Given the description of an element on the screen output the (x, y) to click on. 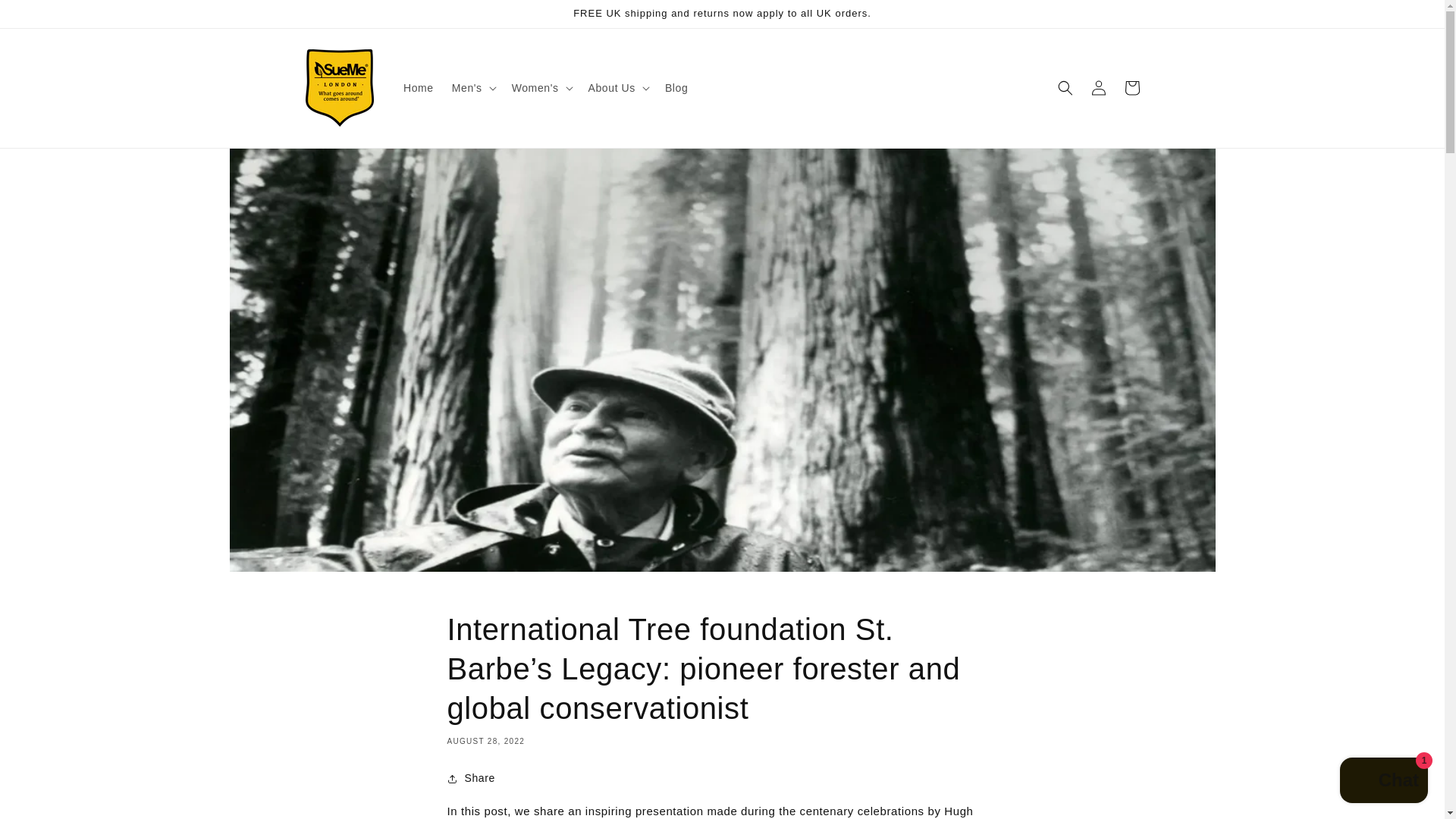
Home (418, 88)
Skip to content (45, 17)
Shopify online store chat (1383, 781)
